Given the description of an element on the screen output the (x, y) to click on. 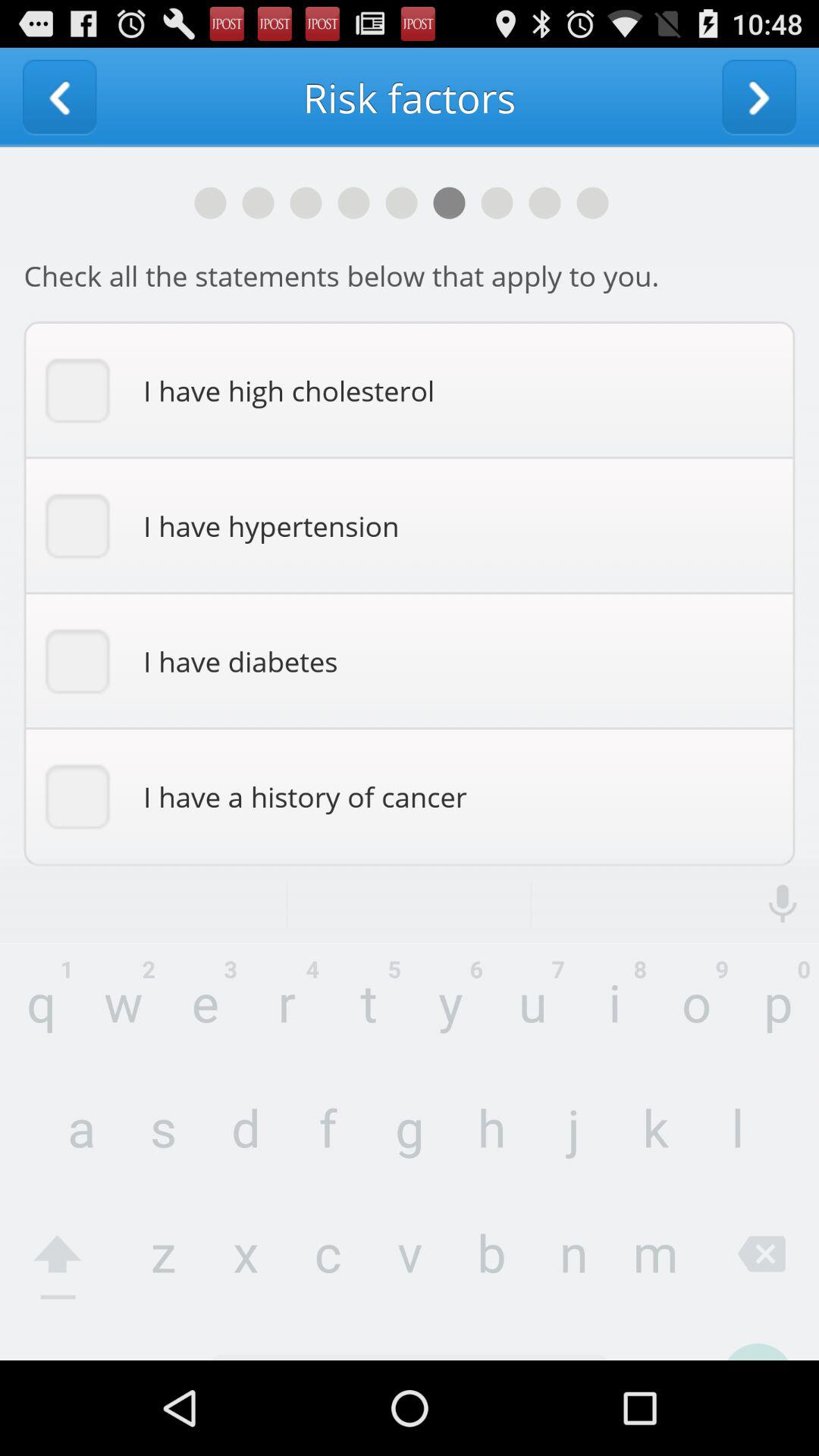
to go next window (759, 97)
